Given the description of an element on the screen output the (x, y) to click on. 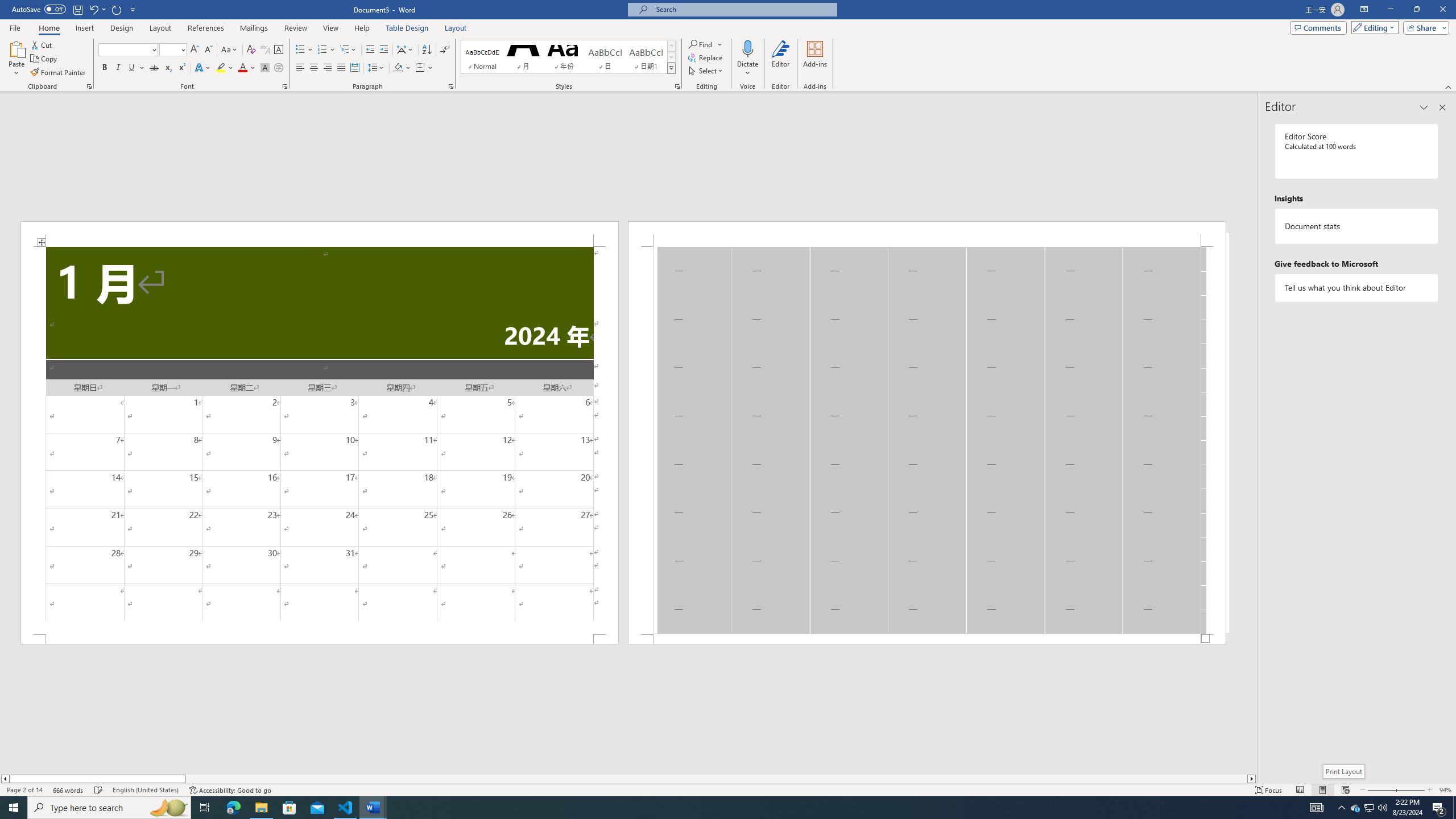
Accessibility Checker Accessibility: Good to go (230, 790)
Replace... (705, 56)
Decrease Indent (370, 49)
Center (313, 67)
Clear Formatting (250, 49)
Tell us what you think about Editor (1356, 288)
Align Left (300, 67)
Page Number Page 2 of 14 (24, 790)
Document statistics (1356, 226)
